Given the description of an element on the screen output the (x, y) to click on. 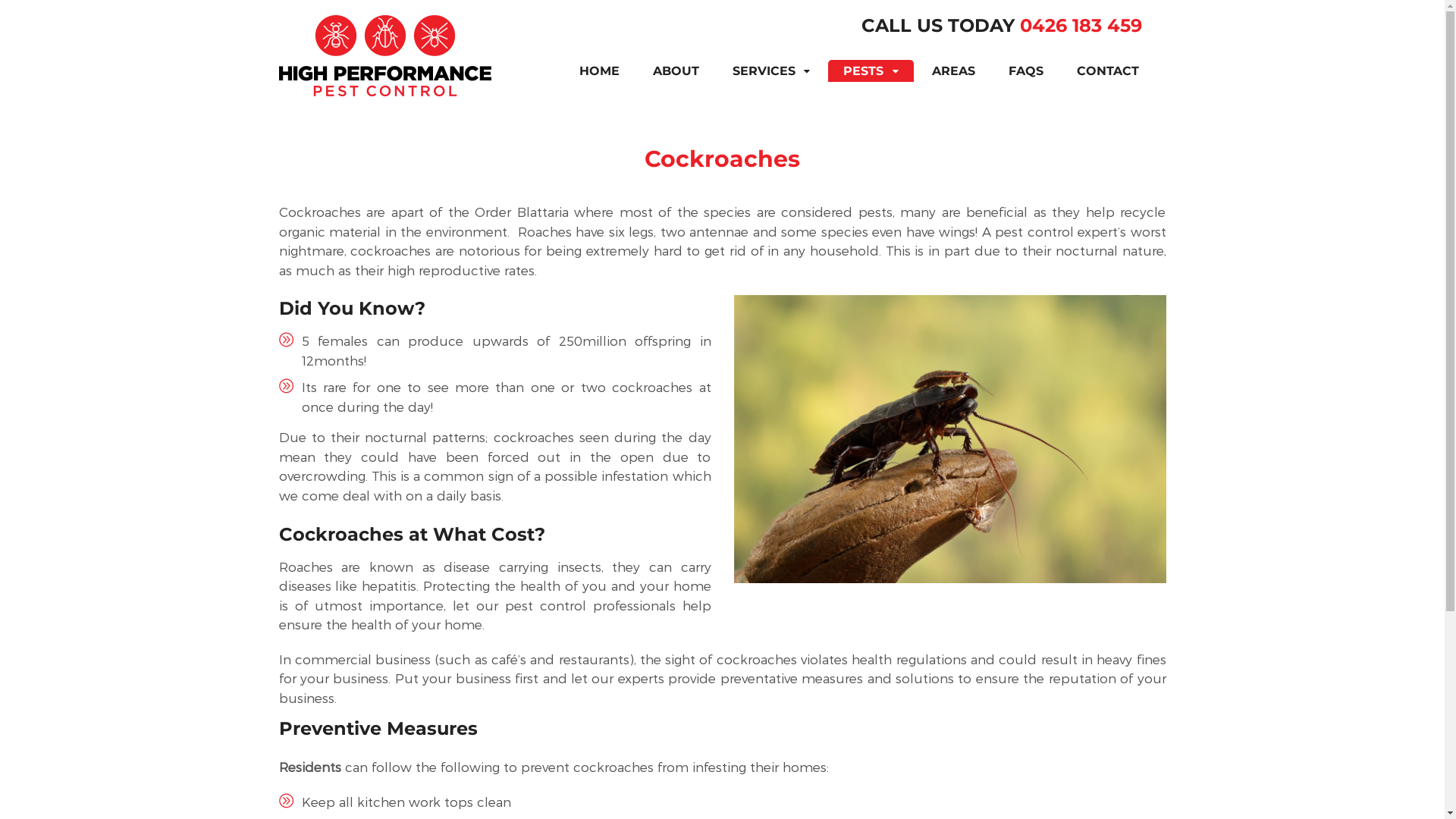
FAQS Element type: text (1025, 70)
PESTS Element type: text (870, 70)
Cockcroaches Element type: hover (950, 438)
SERVICES Element type: text (771, 70)
0426 183 459 Element type: text (1080, 25)
CONTACT Element type: text (1107, 70)
ABOUT Element type: text (675, 70)
AREAS Element type: text (952, 70)
HOME Element type: text (599, 70)
